Given the description of an element on the screen output the (x, y) to click on. 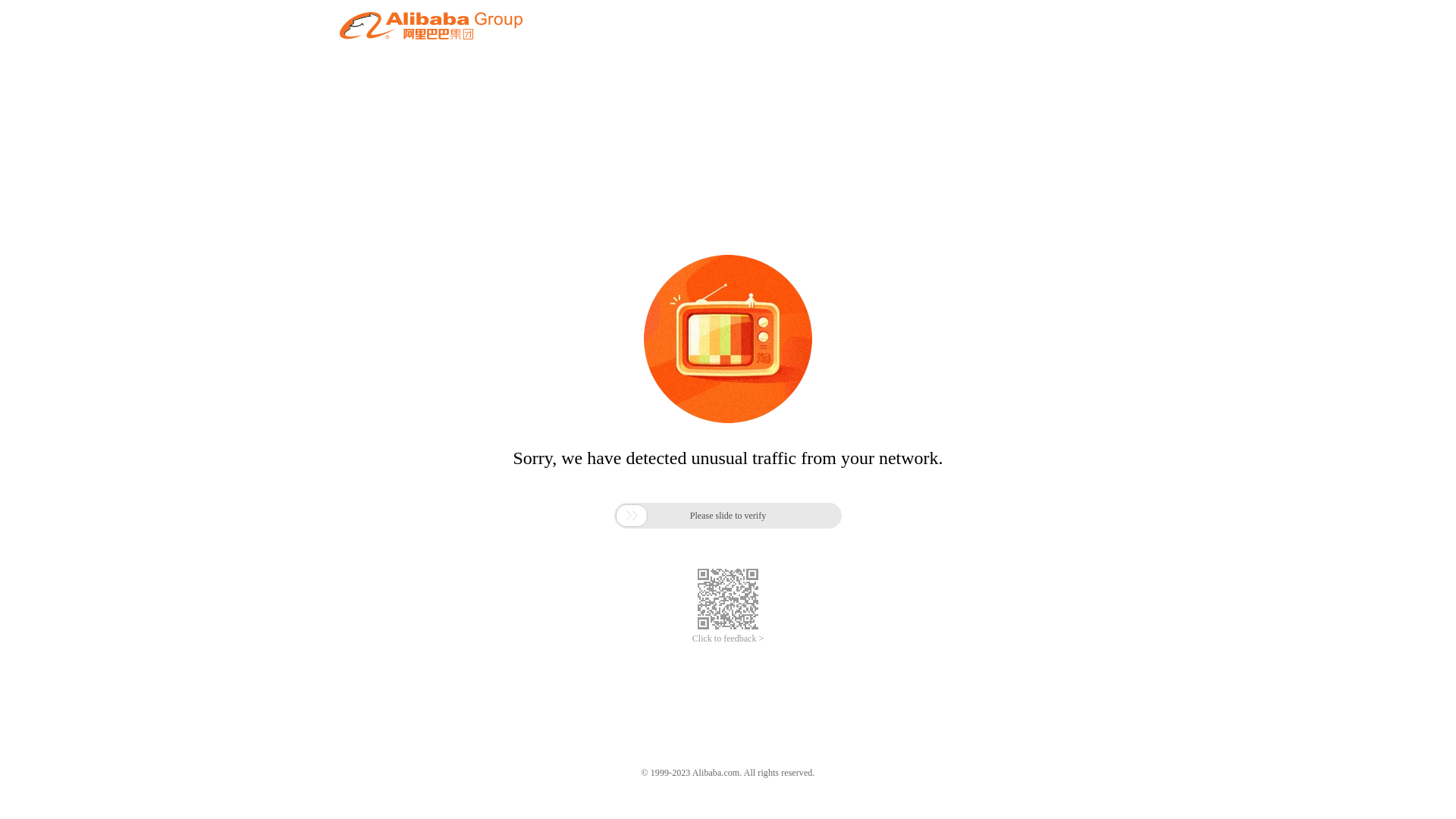
Click to feedback > Element type: text (727, 638)
